Given the description of an element on the screen output the (x, y) to click on. 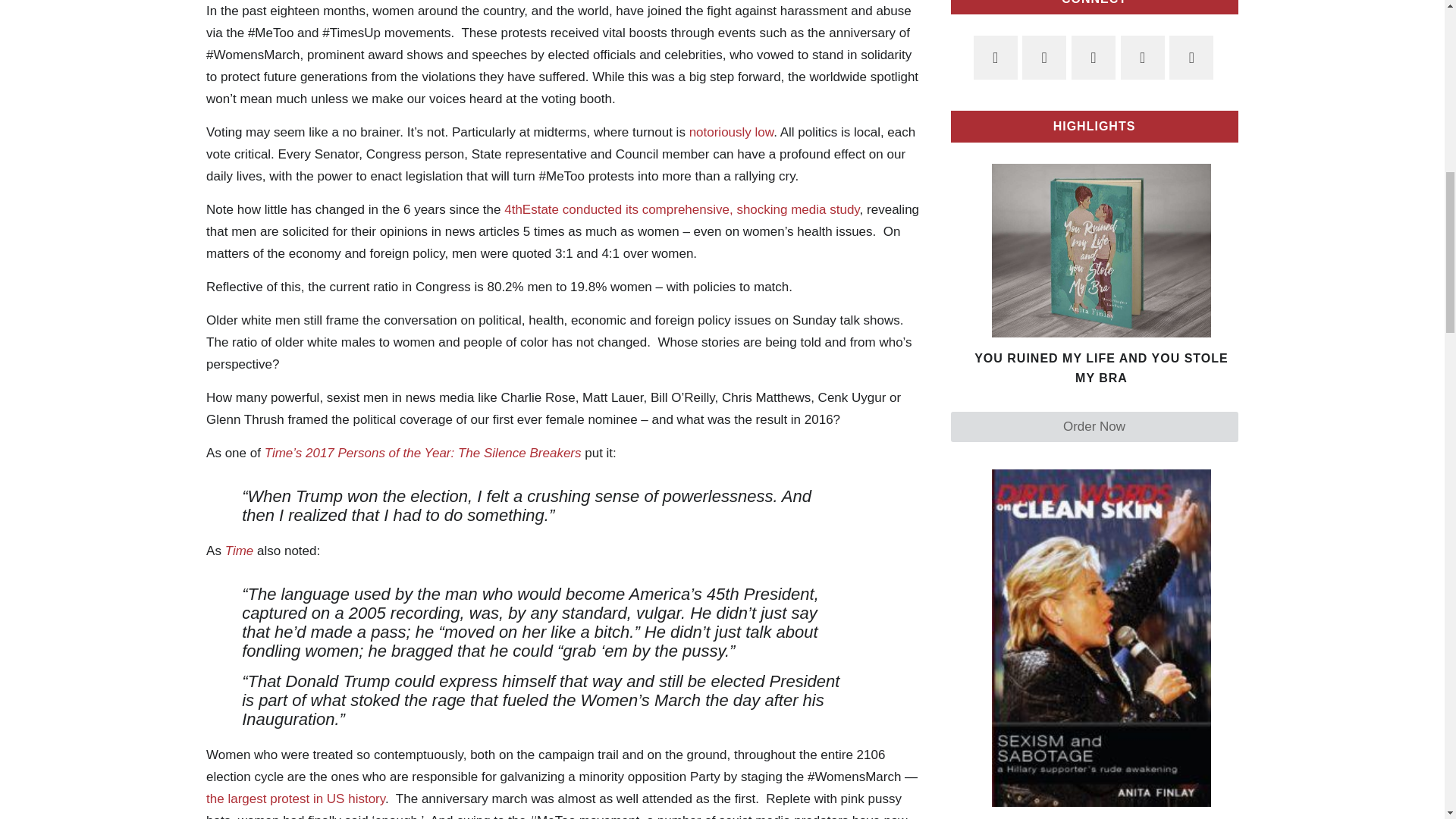
4thEstate conducted its comprehensive, shocking media study (681, 209)
Time (239, 550)
notoriously low (731, 132)
the largest protest in US history (295, 798)
